Given the description of an element on the screen output the (x, y) to click on. 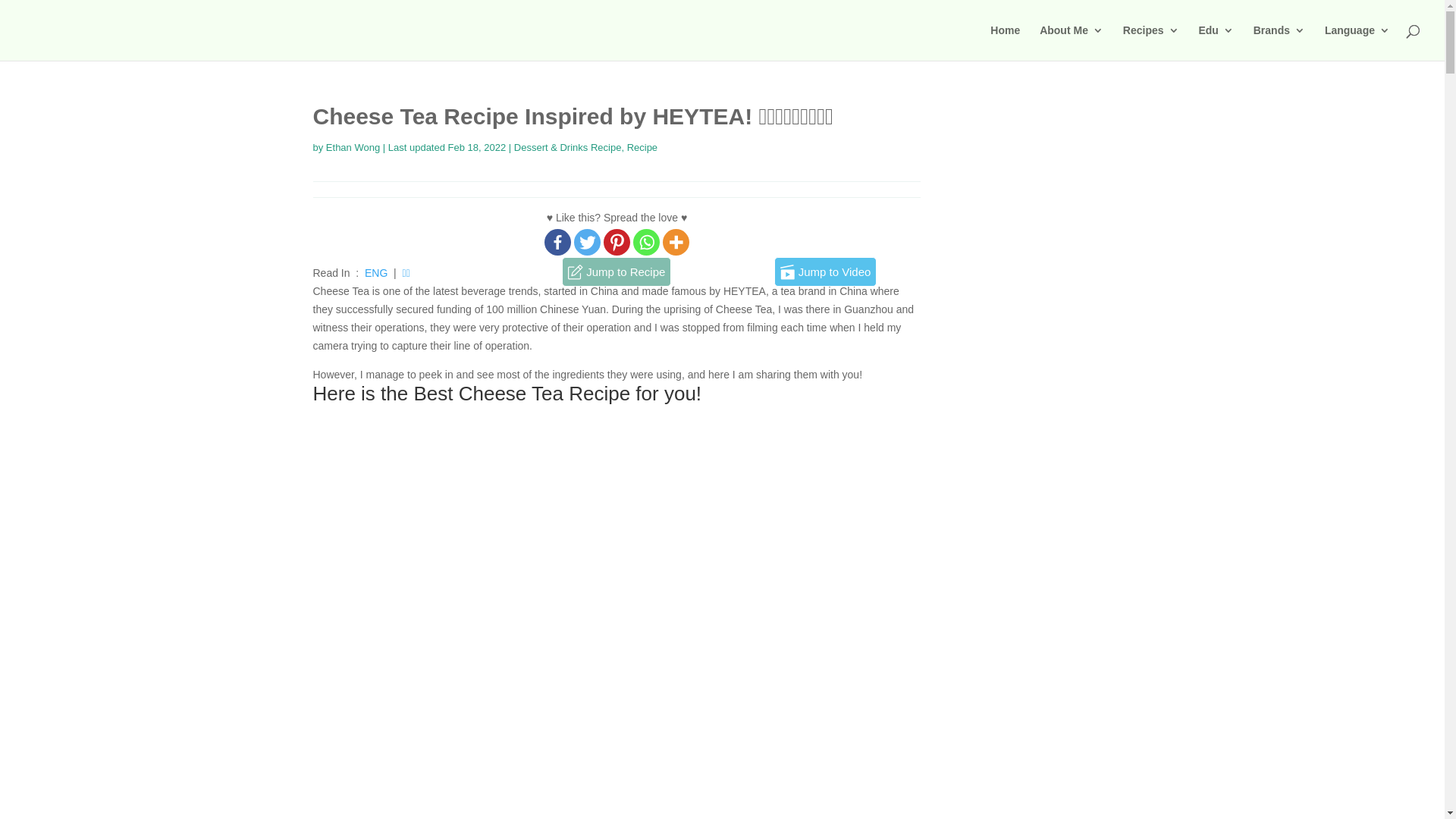
Facebook Element type: hover (557, 242)
Ethan Wong Element type: text (352, 147)
Jump to Recipe Element type: text (616, 272)
Pinterest Element type: hover (616, 242)
About Me Element type: text (1071, 42)
Language Element type: text (1357, 42)
Jump to Video Element type: text (825, 272)
Home Element type: text (1004, 42)
Recipes Element type: text (1151, 42)
Dessert & Drinks Recipe Element type: text (567, 147)
Twitter Element type: hover (587, 242)
Edu Element type: text (1215, 42)
More Element type: hover (675, 242)
Brands Element type: text (1279, 42)
Whatsapp Element type: hover (646, 242)
ENG Element type: text (375, 272)
Recipe Element type: text (642, 147)
